Given the description of an element on the screen output the (x, y) to click on. 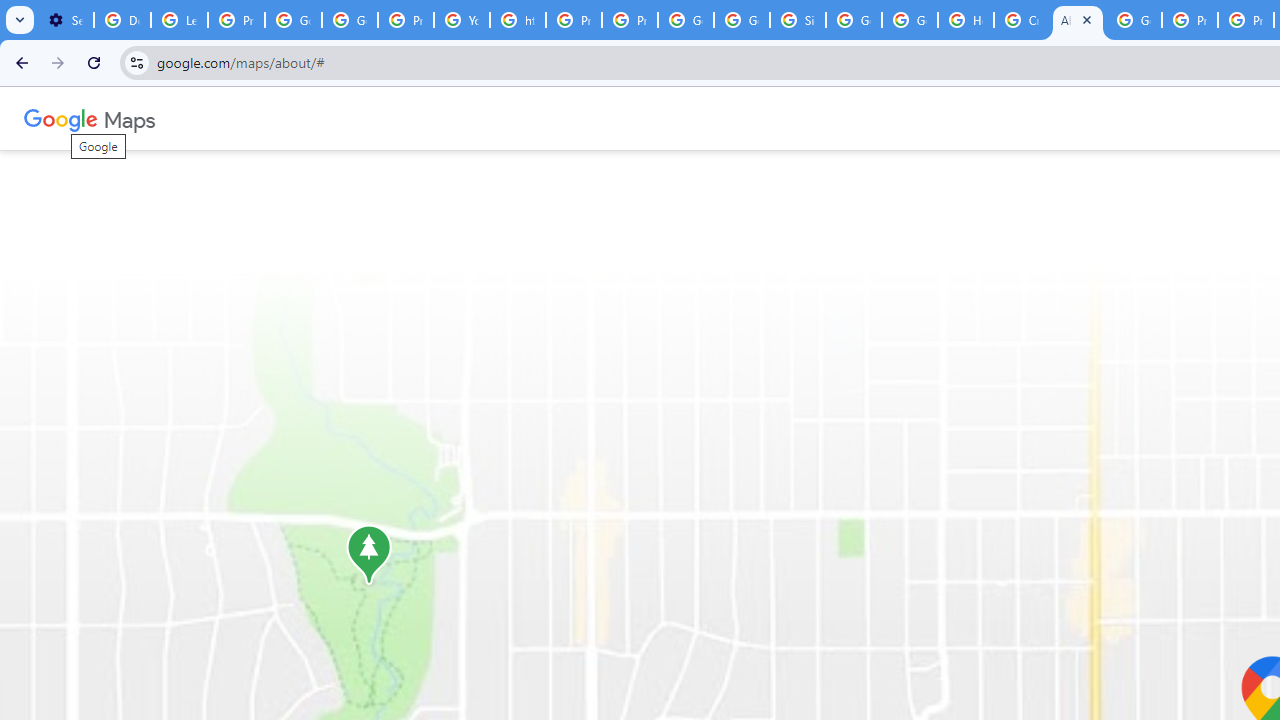
System (10, 11)
